Given the description of an element on the screen output the (x, y) to click on. 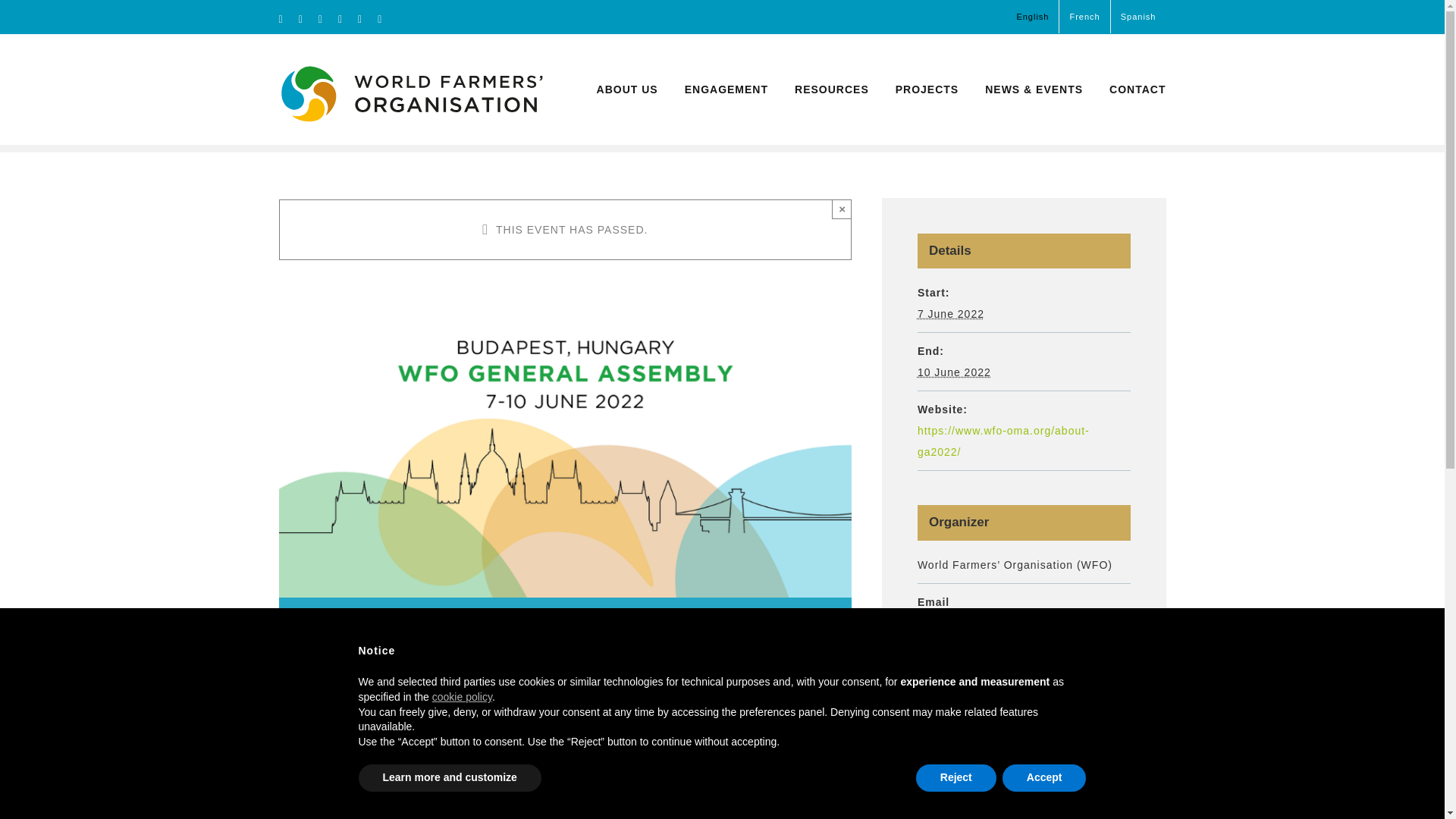
French (1084, 16)
Spanish (1138, 16)
English (1032, 16)
Spanish (1138, 16)
French (1084, 16)
English (1032, 16)
